Given the description of an element on the screen output the (x, y) to click on. 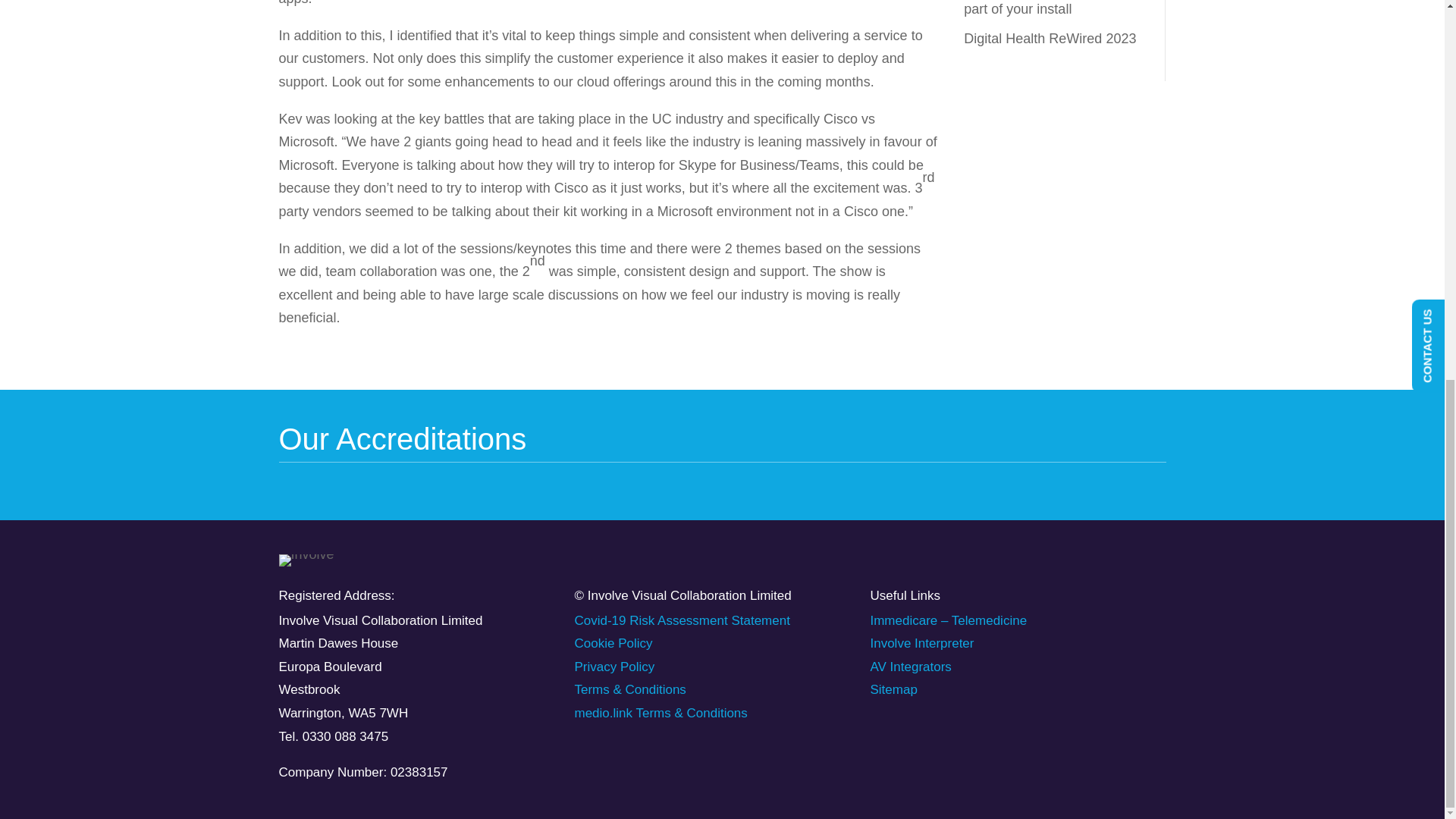
Involve (306, 560)
